Given the description of an element on the screen output the (x, y) to click on. 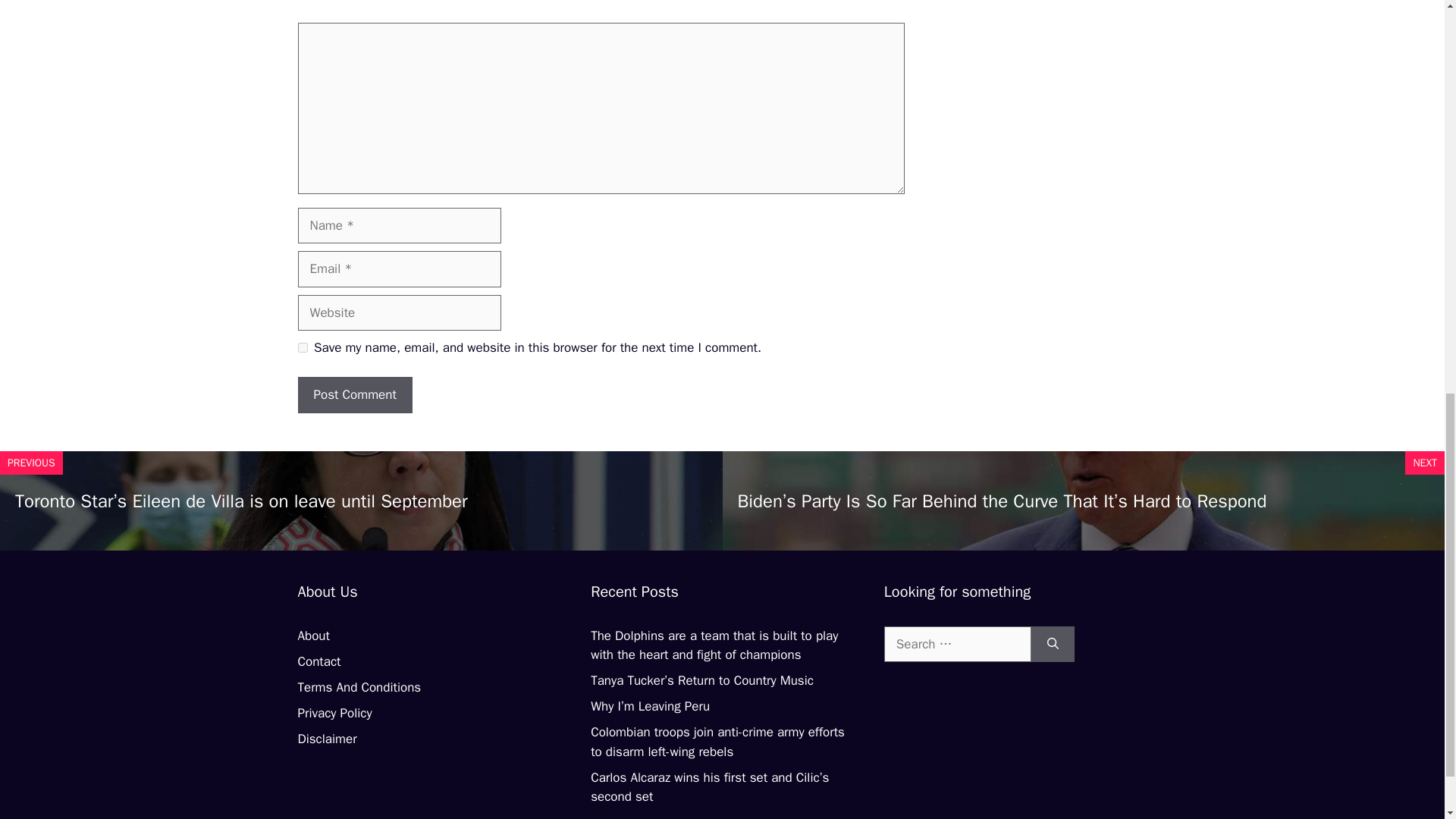
About (313, 635)
Post Comment (354, 394)
Post Comment (354, 394)
Search for: (956, 644)
yes (302, 347)
